Given the description of an element on the screen output the (x, y) to click on. 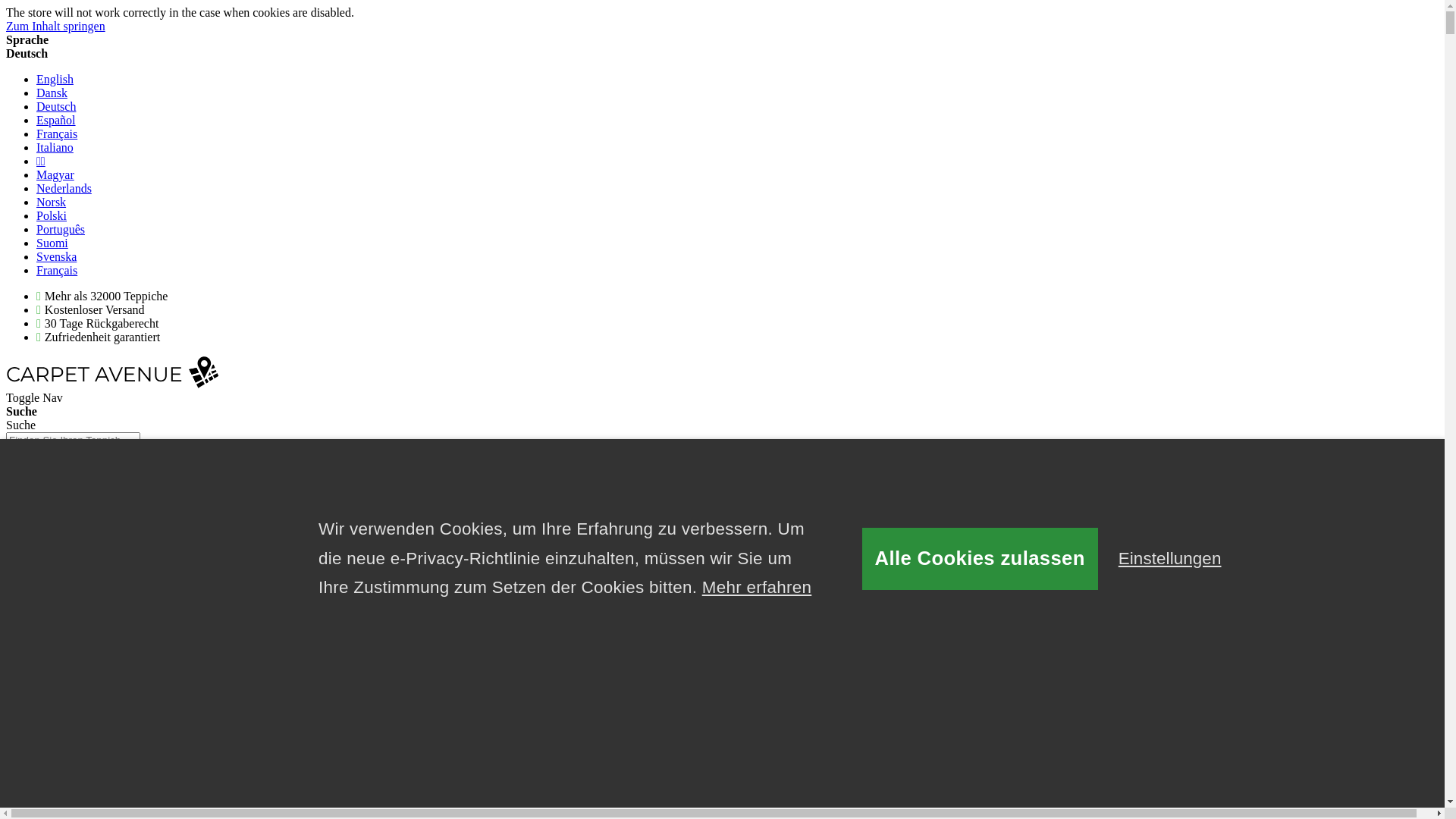
Suche Element type: text (26, 469)
Artikel entfernen Element type: text (108, 605)
Italiano Element type: text (54, 147)
Ein Konto erstellen Element type: text (83, 523)
Mein Warenkorb Element type: text (46, 645)
Norsk Element type: text (50, 201)
In den Warenkorb Element type: text (109, 590)
Polski Element type: text (51, 215)
English Element type: text (54, 78)
Erweiterte Suche Element type: text (47, 454)
Mehr erfahren Element type: text (757, 587)
Dansk Element type: text (51, 92)
Zum Inhalt springen Element type: text (55, 25)
Anmelden Element type: text (61, 509)
Suomi Element type: text (52, 242)
Magyar Element type: text (55, 174)
Orientteppiche Element type: text (737, 685)
Nederlands Element type: text (63, 188)
Deutsch Element type: text (55, 106)
Svenska Element type: text (56, 256)
In den Warenkorb Element type: text (202, 591)
